Given the description of an element on the screen output the (x, y) to click on. 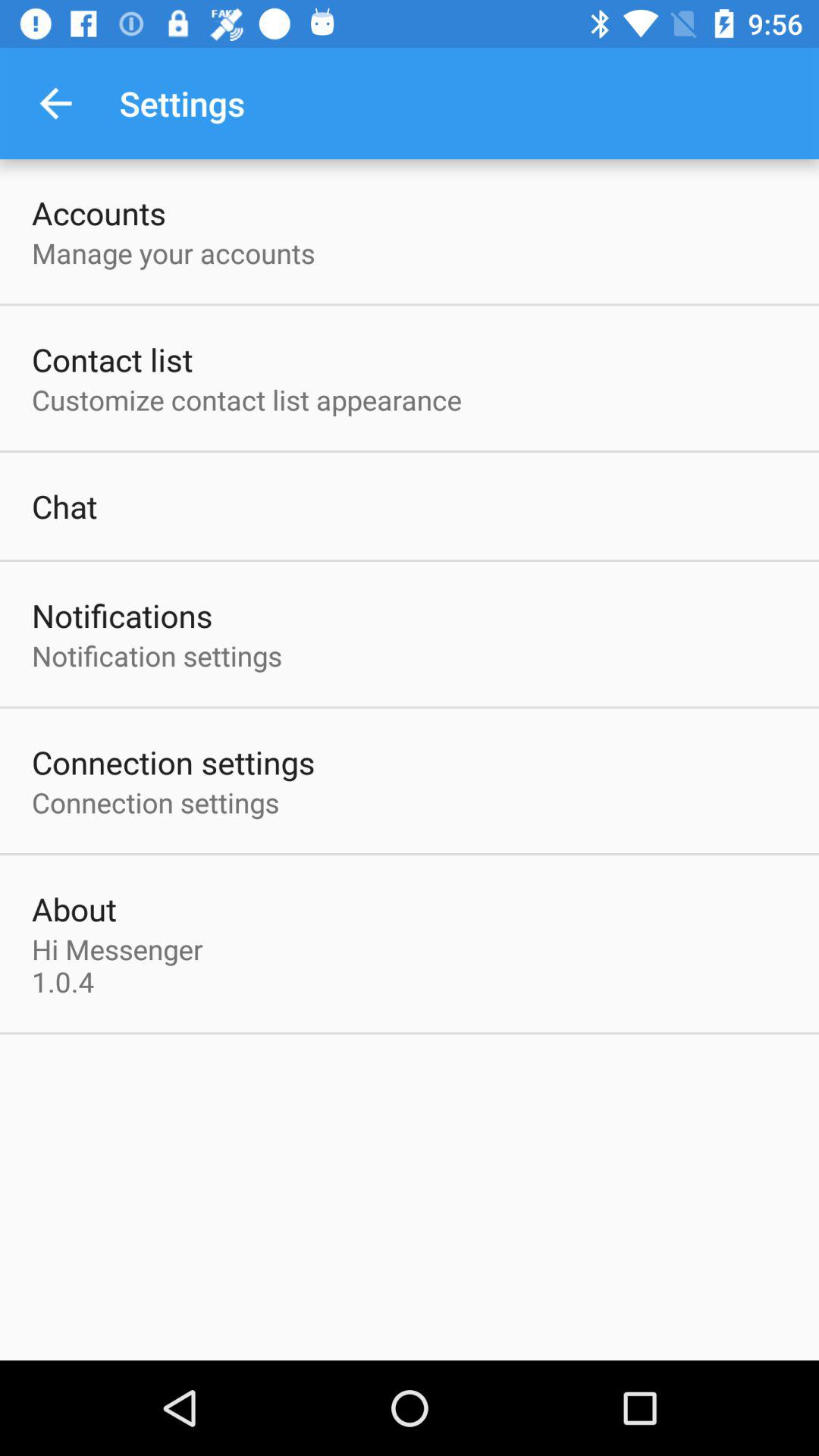
flip until manage your accounts icon (173, 252)
